Given the description of an element on the screen output the (x, y) to click on. 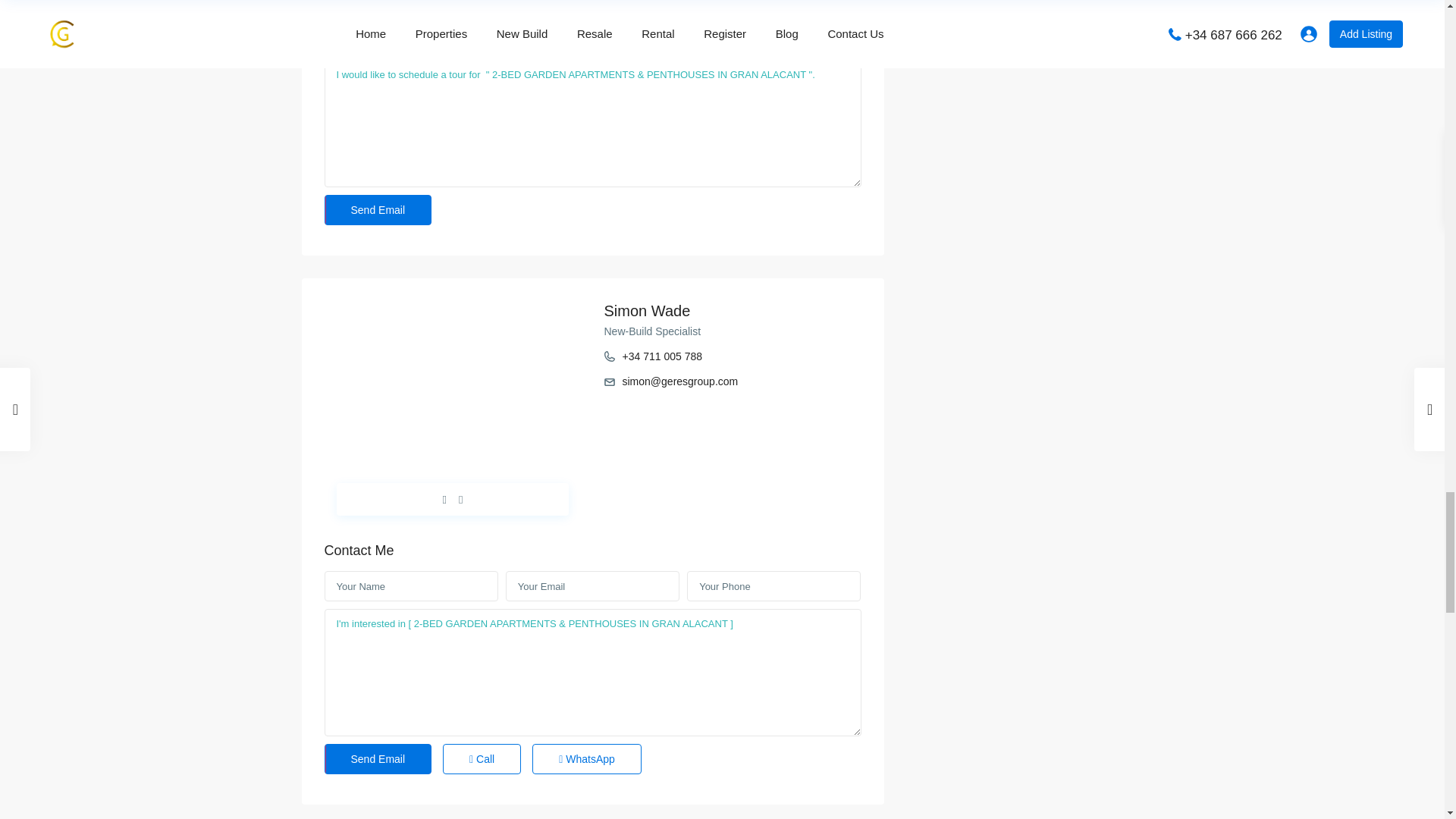
Send Email (378, 758)
Send Email (378, 209)
